Given the description of an element on the screen output the (x, y) to click on. 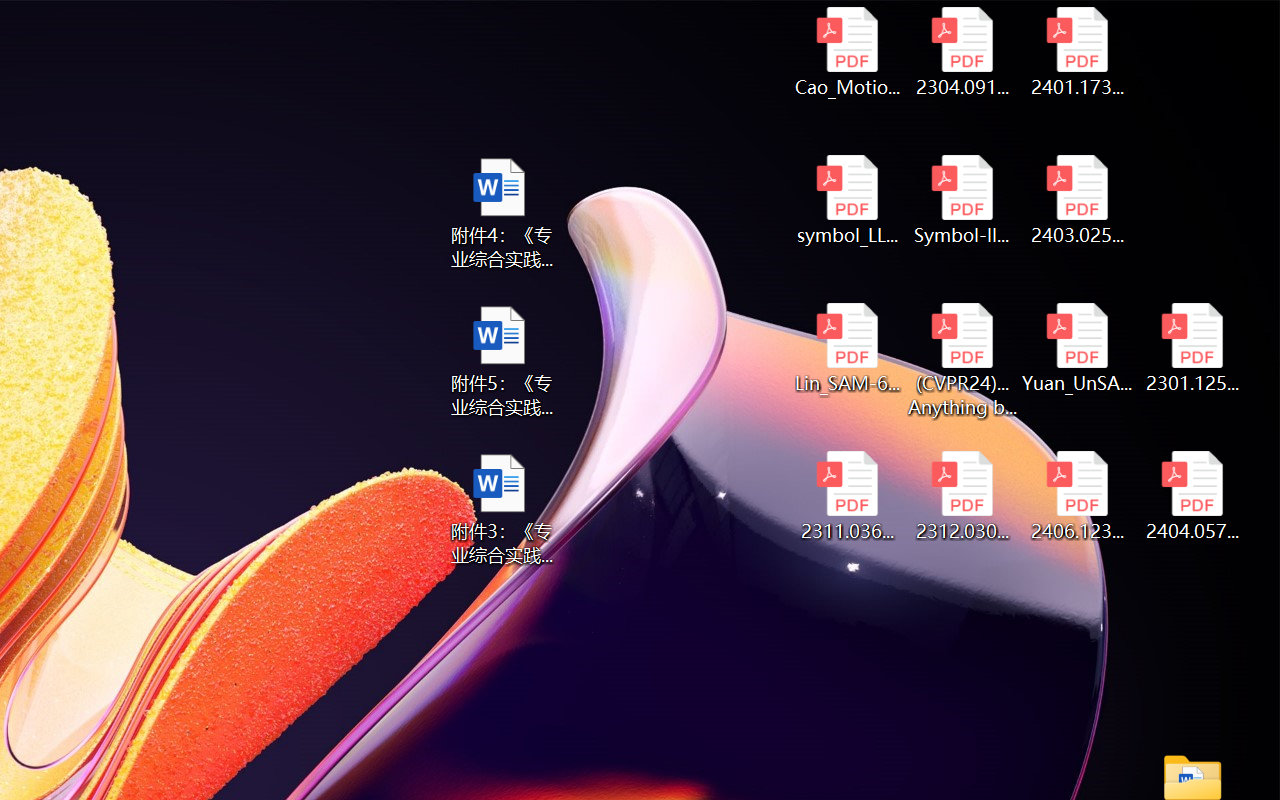
2304.09121v3.pdf (962, 52)
2301.12597v3.pdf (1192, 348)
2401.17399v1.pdf (1077, 52)
2406.12373v2.pdf (1077, 496)
symbol_LLM.pdf (846, 200)
2404.05719v1.pdf (1192, 496)
2403.02502v1.pdf (1077, 200)
2311.03658v2.pdf (846, 496)
(CVPR24)Matching Anything by Segmenting Anything.pdf (962, 360)
